Given the description of an element on the screen output the (x, y) to click on. 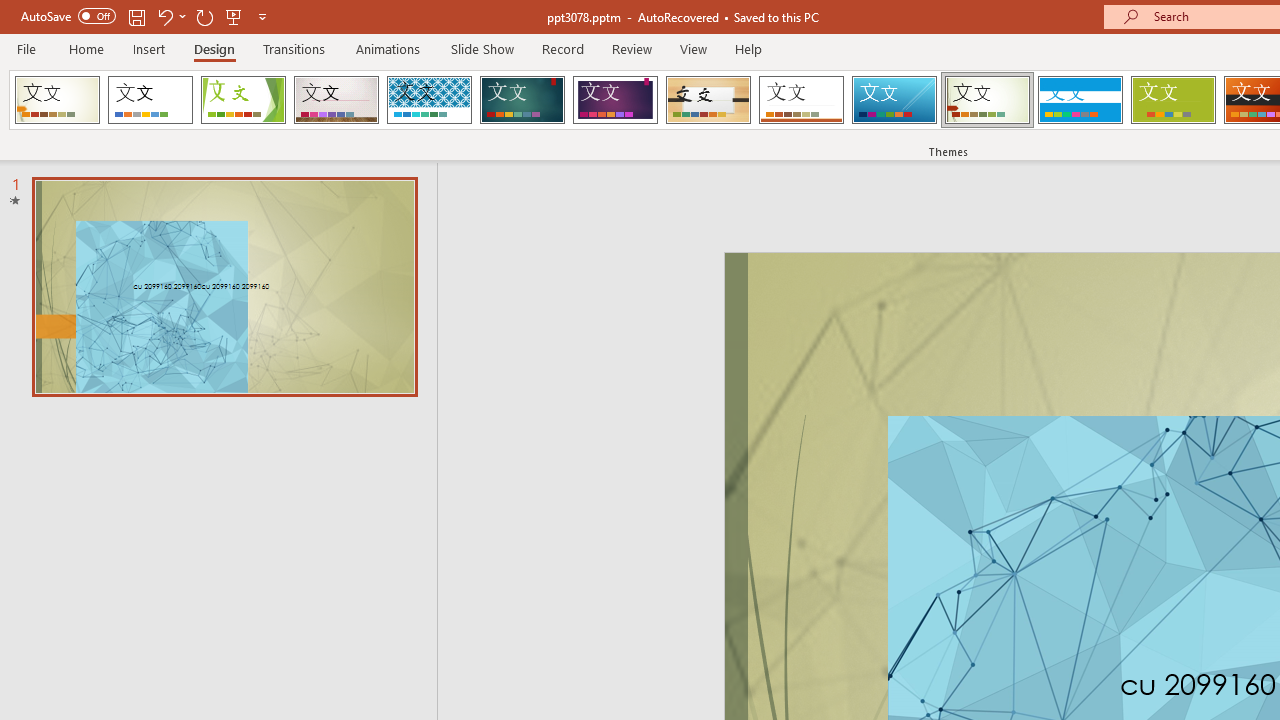
Slice Loading Preview... (893, 100)
Ion Loading Preview... (522, 100)
Ion Boardroom Loading Preview... (615, 100)
Wisp Loading Preview... (987, 100)
Organic Loading Preview... (708, 100)
Gallery (336, 100)
